Given the description of an element on the screen output the (x, y) to click on. 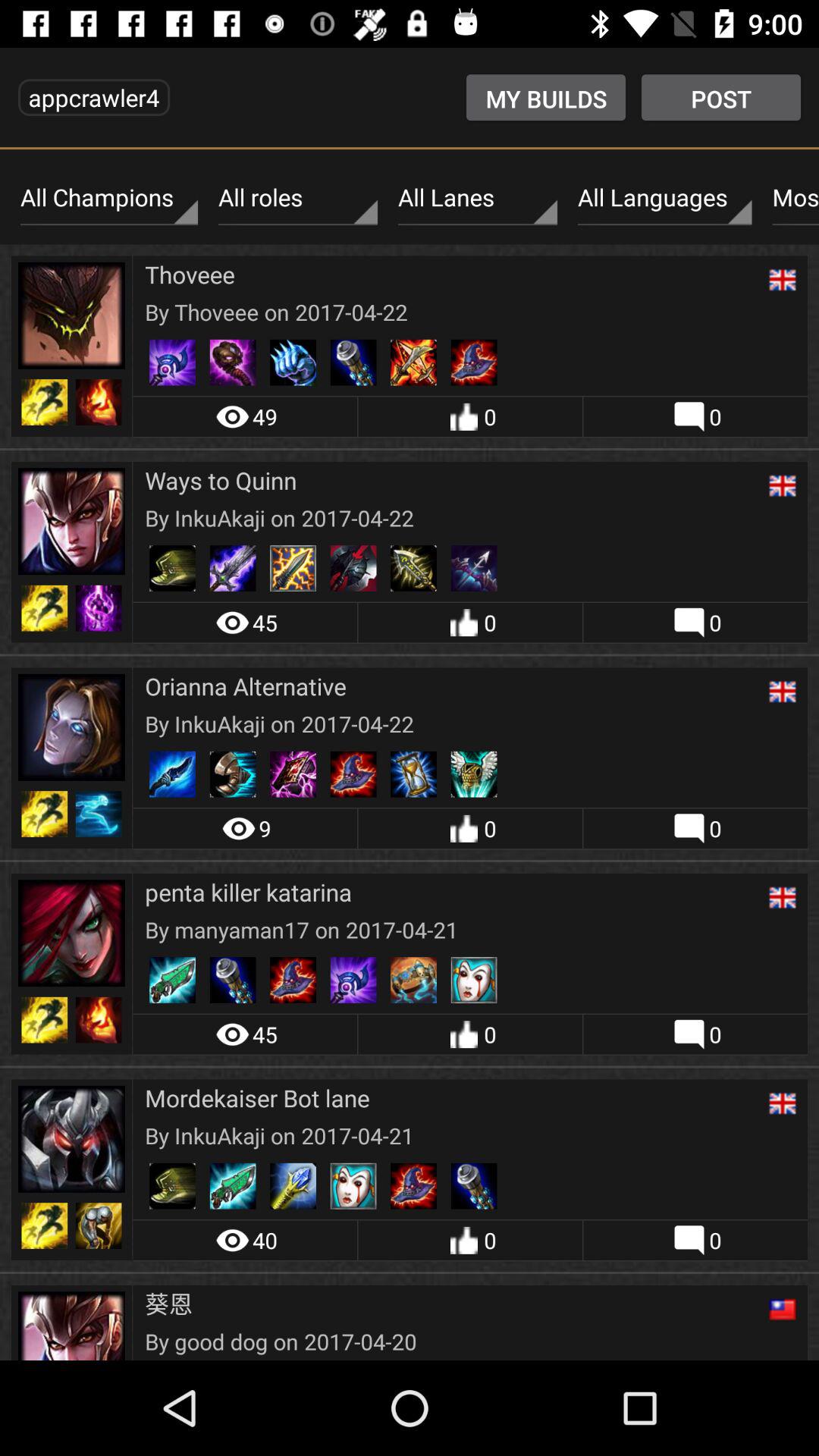
click icon to the right of appcrawler4 item (545, 97)
